Given the description of an element on the screen output the (x, y) to click on. 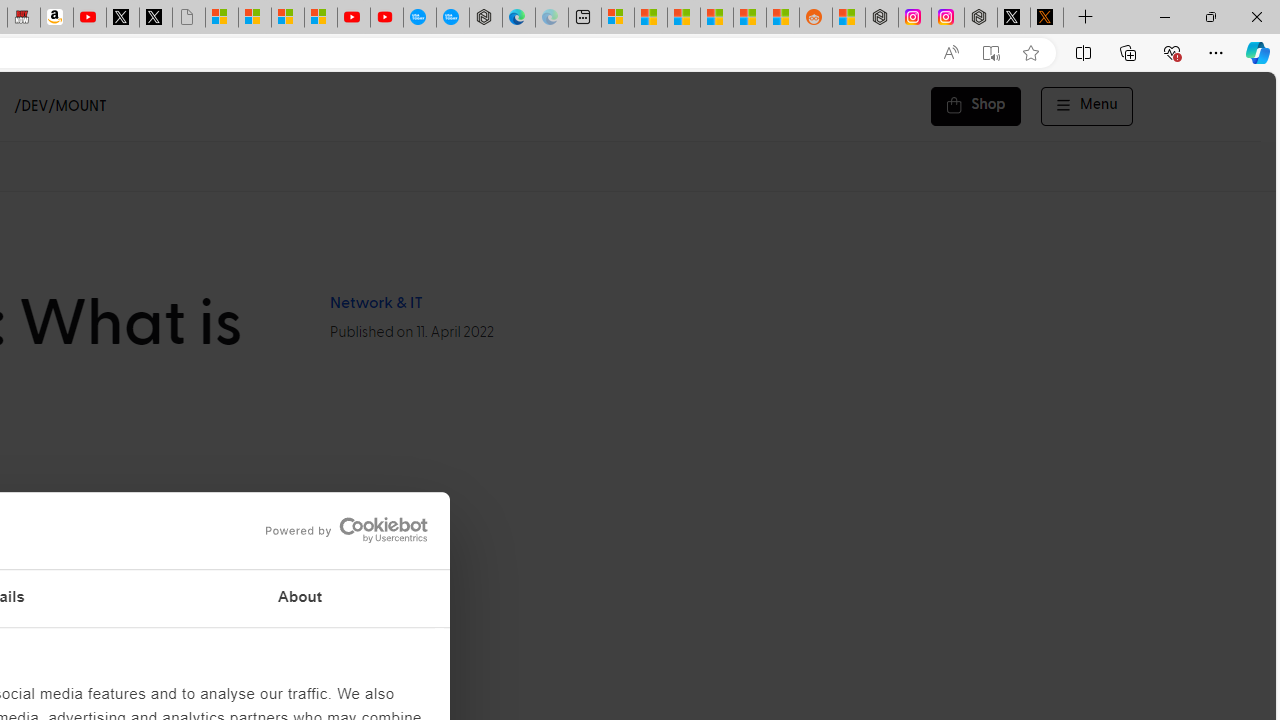
Nordace (@NordaceOfficial) / X (1014, 17)
Powered by Cookiebot (345, 530)
